Given the description of an element on the screen output the (x, y) to click on. 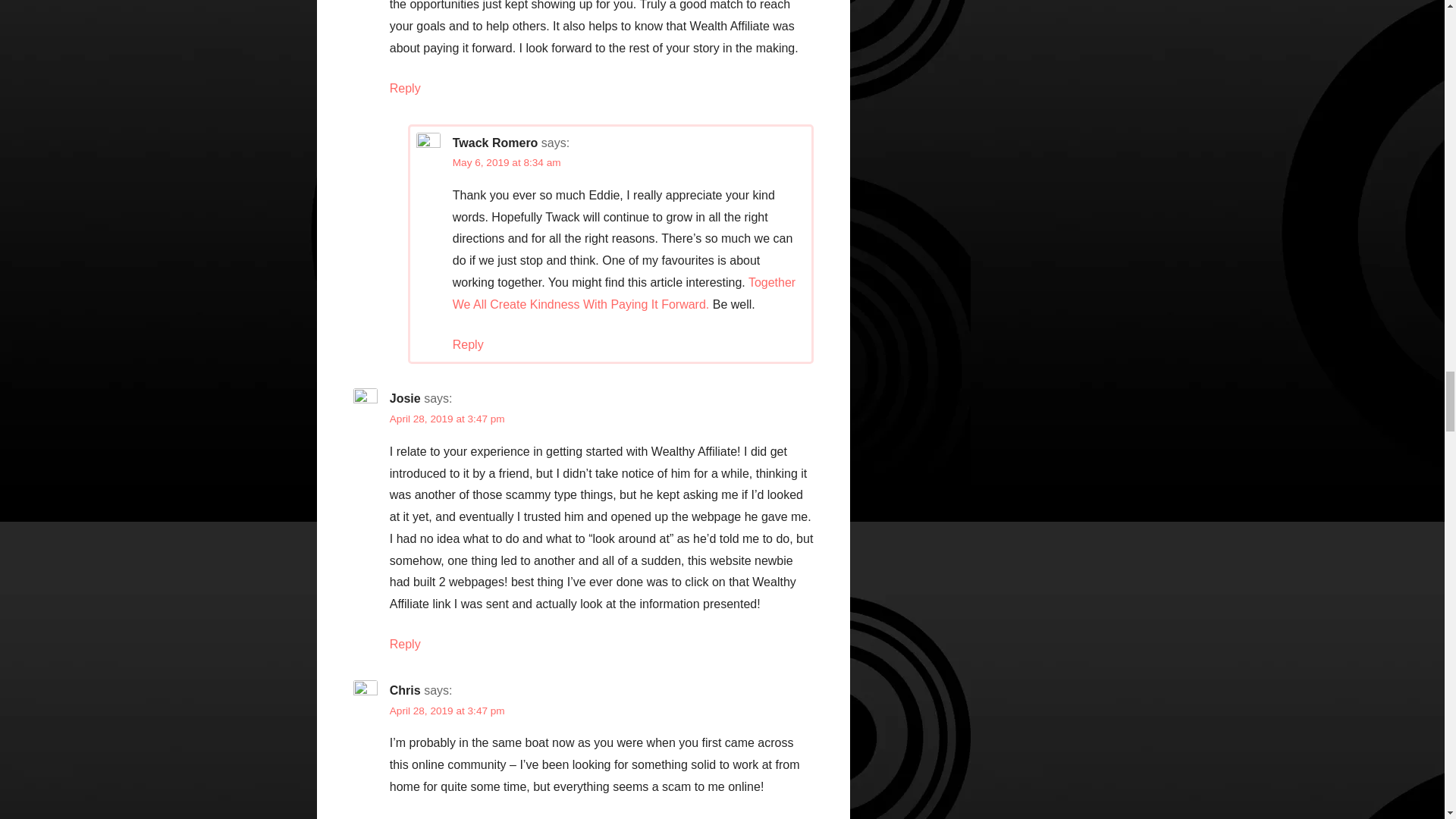
Together We All Create Kindness With Paying It Forward. (623, 293)
Together We All Create Kindness With Paying It Forward. (623, 293)
May 6, 2019 at 8:34 am (506, 162)
Reply (405, 88)
